Given the description of an element on the screen output the (x, y) to click on. 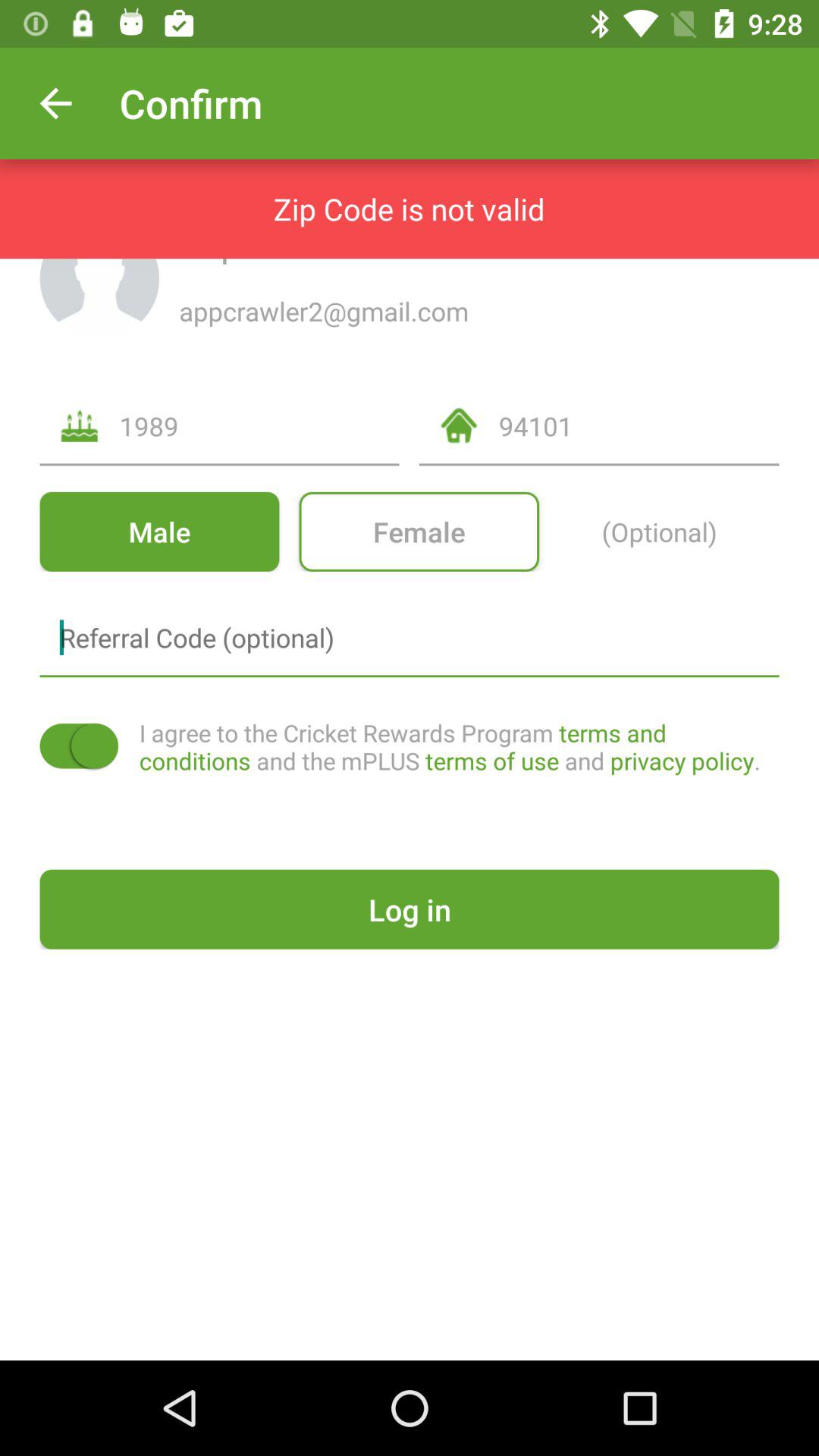
swipe to 94101 item (638, 425)
